Given the description of an element on the screen output the (x, y) to click on. 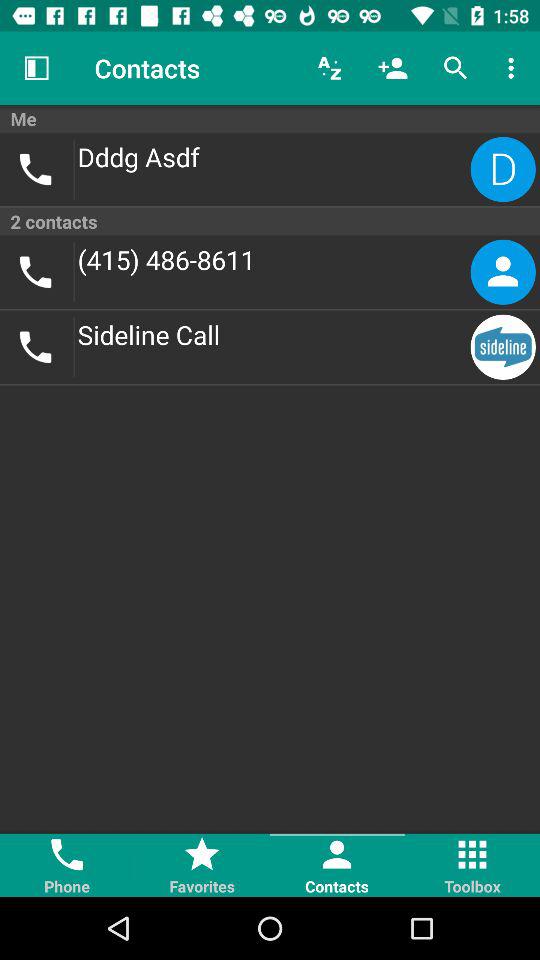
open the icon to the left of the contacts icon (36, 68)
